Given the description of an element on the screen output the (x, y) to click on. 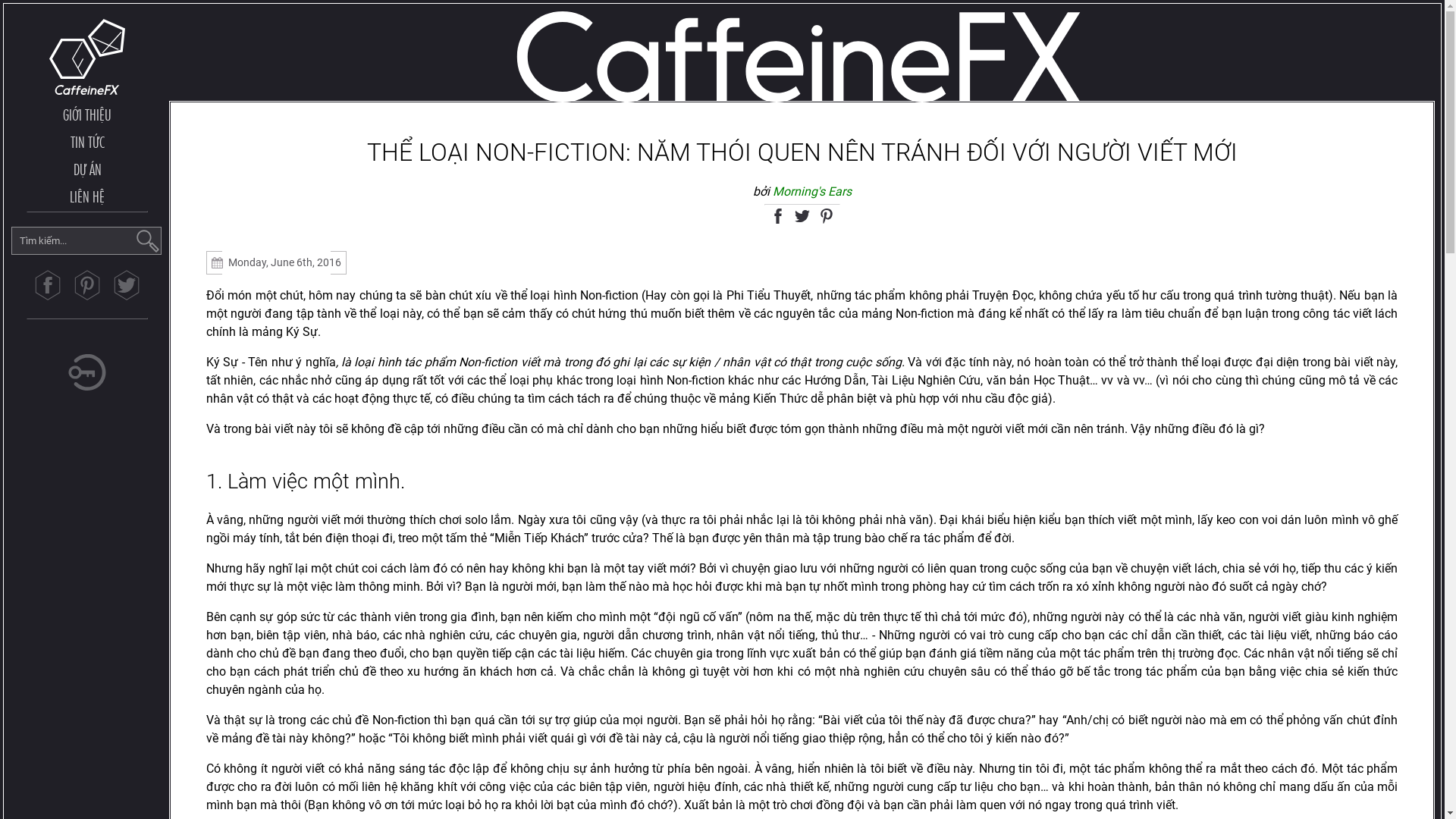
Morning's Ears Element type: text (810, 191)
